Given the description of an element on the screen output the (x, y) to click on. 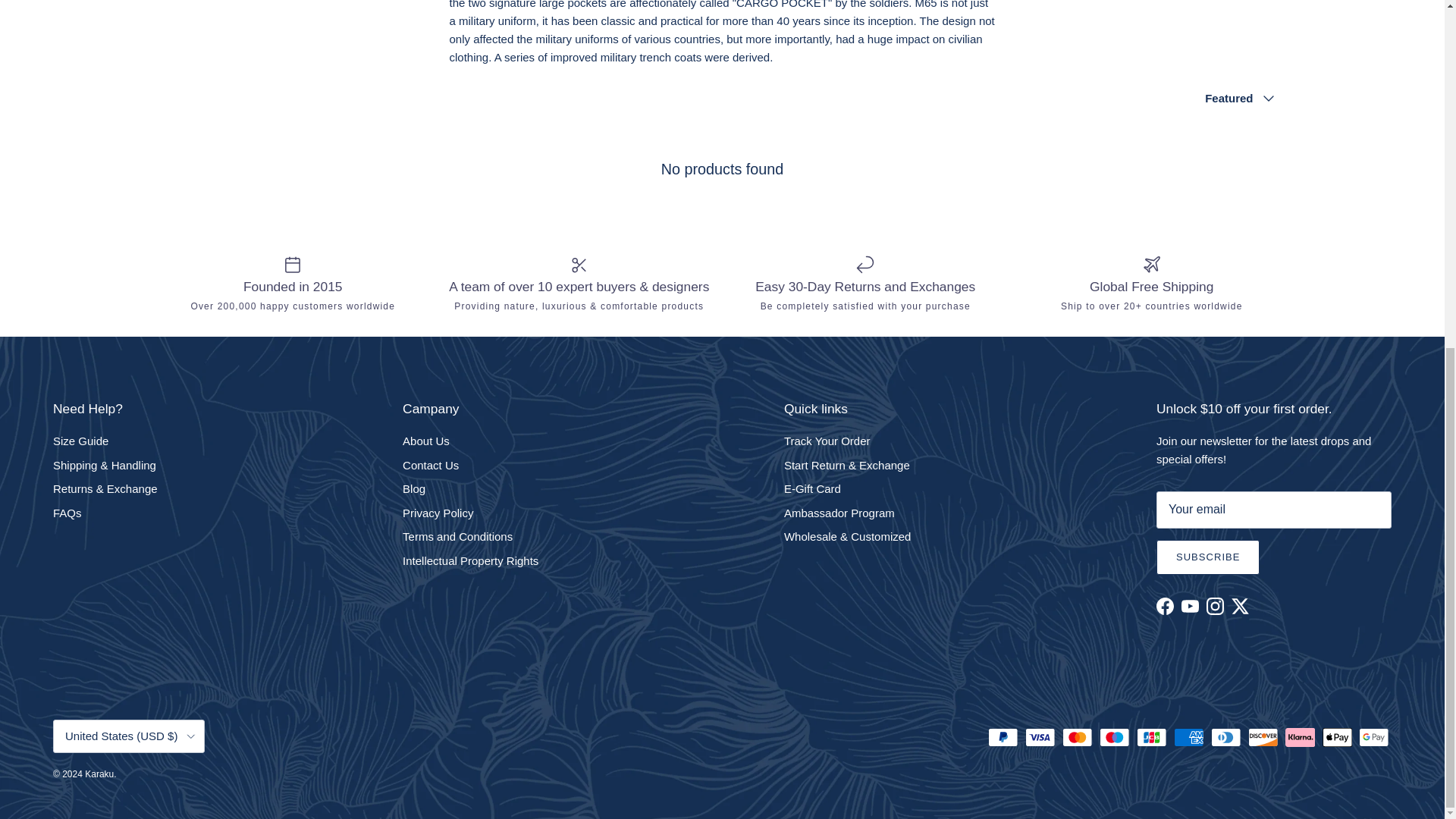
Karaku on Instagram (1215, 606)
JCB (1151, 737)
Visa (1040, 737)
Maestro (1114, 737)
PayPal (1002, 737)
Karaku on Facebook (1164, 606)
Karaku on Twitter (1240, 606)
Mastercard (1077, 737)
Karaku on YouTube (1189, 606)
